Given the description of an element on the screen output the (x, y) to click on. 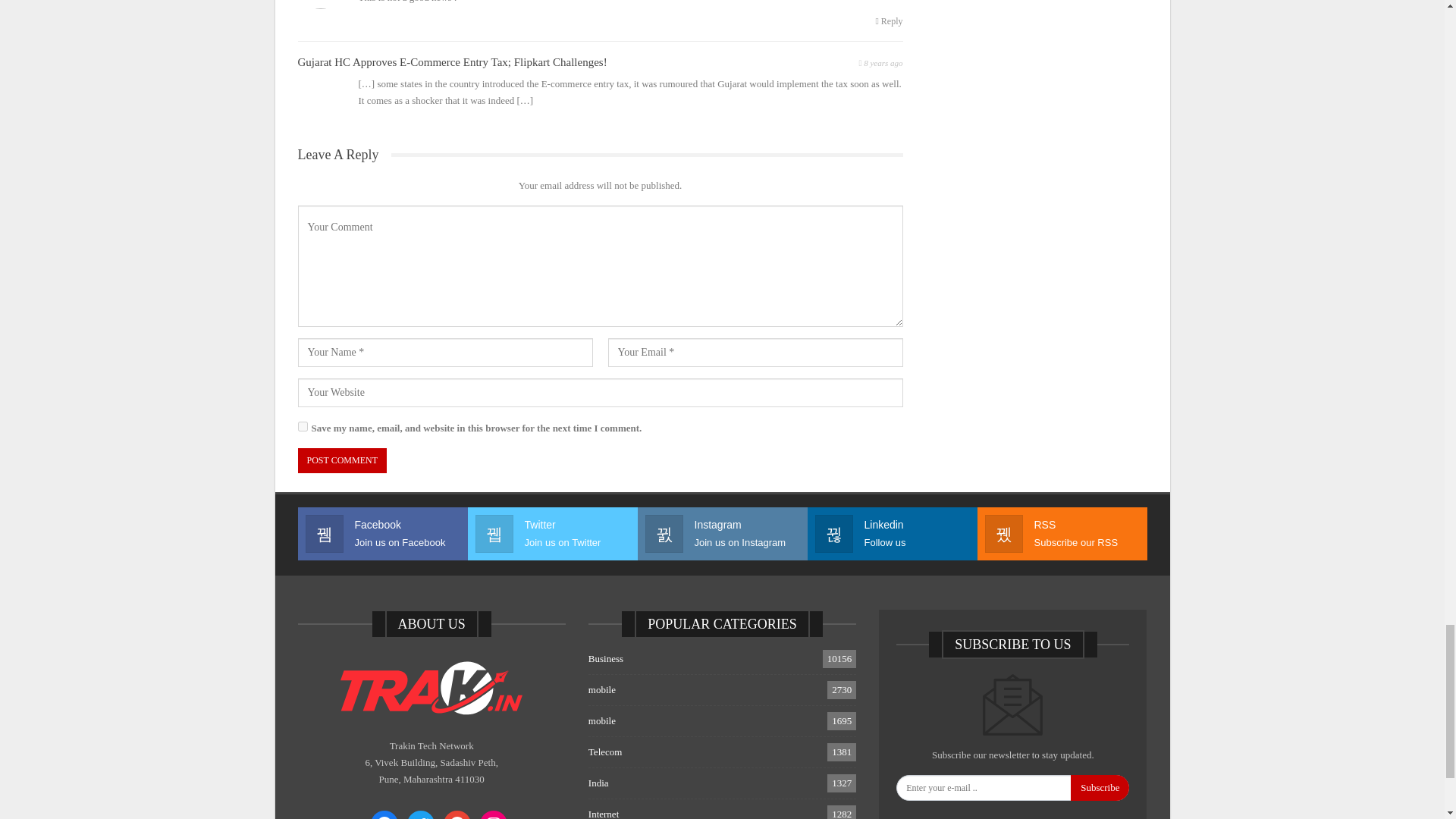
Post Comment (341, 460)
yes (302, 426)
